Given the description of an element on the screen output the (x, y) to click on. 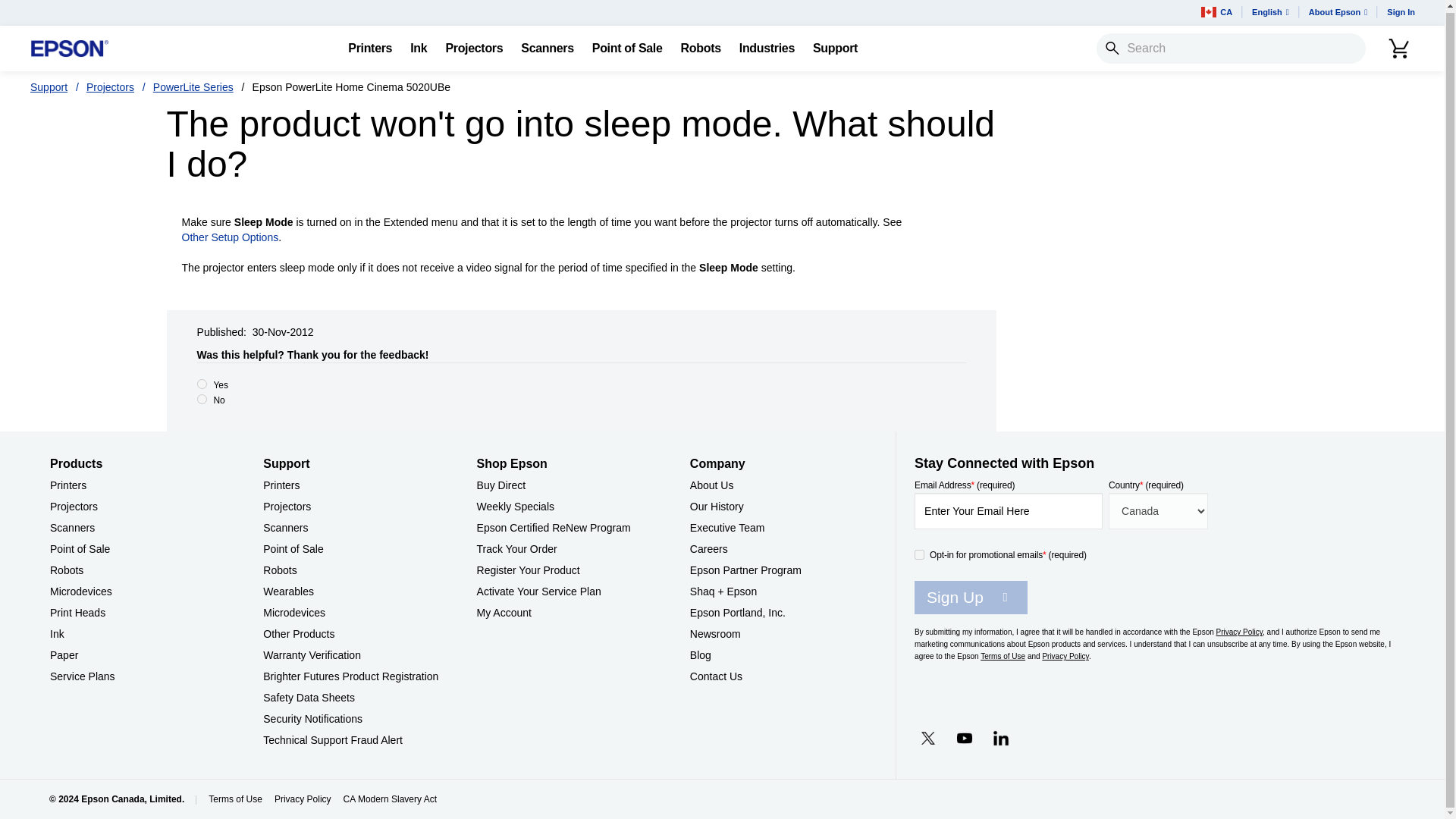
on (919, 554)
CA (1216, 12)
Sign In (1400, 12)
English (1270, 12)
Epson Logo (69, 48)
yes (201, 384)
no (201, 398)
About Epson (1337, 12)
English (1270, 12)
Sign In (1400, 12)
CA (1216, 12)
